Given the description of an element on the screen output the (x, y) to click on. 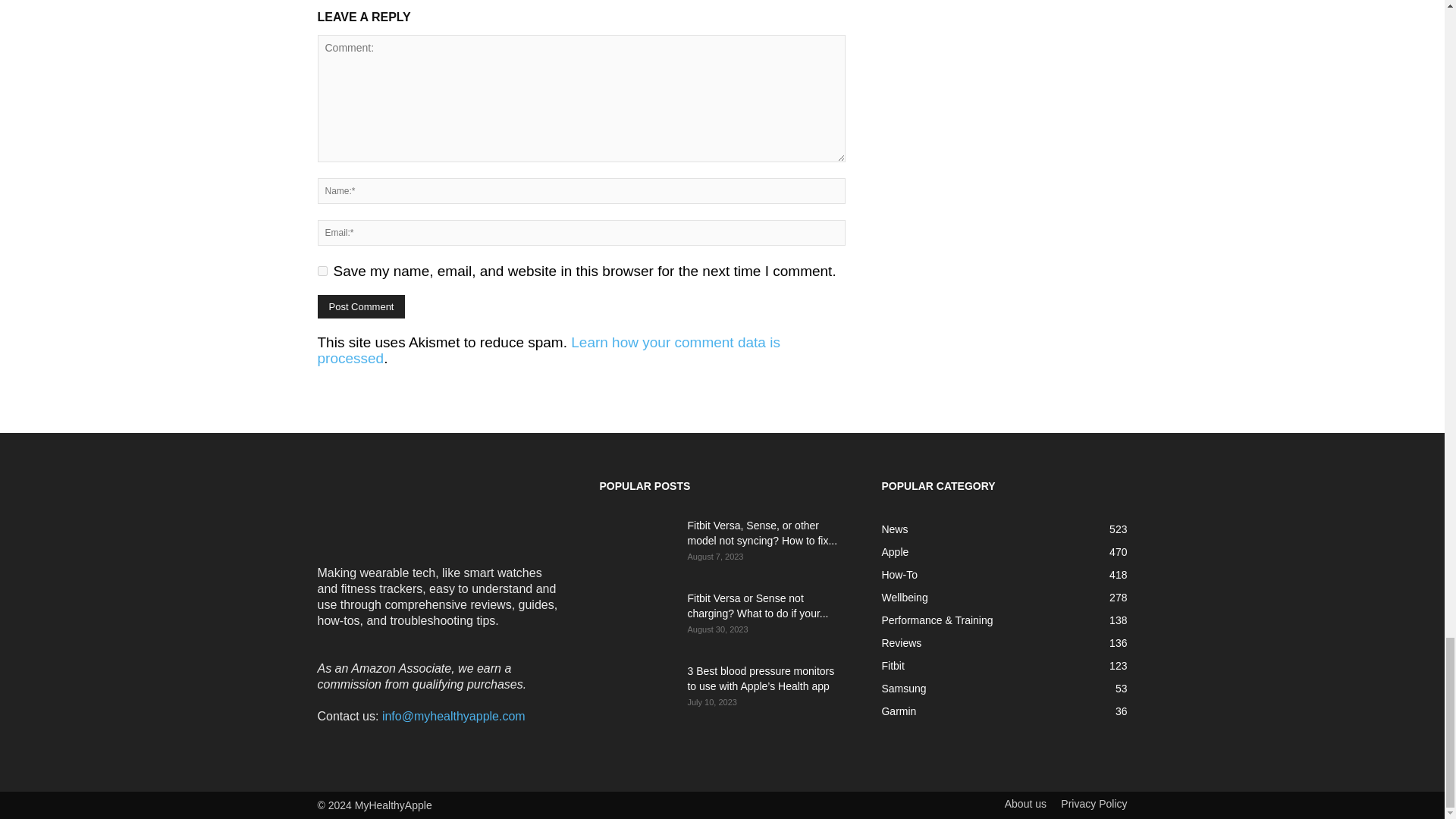
yes (321, 271)
Post Comment (360, 306)
